Given the description of an element on the screen output the (x, y) to click on. 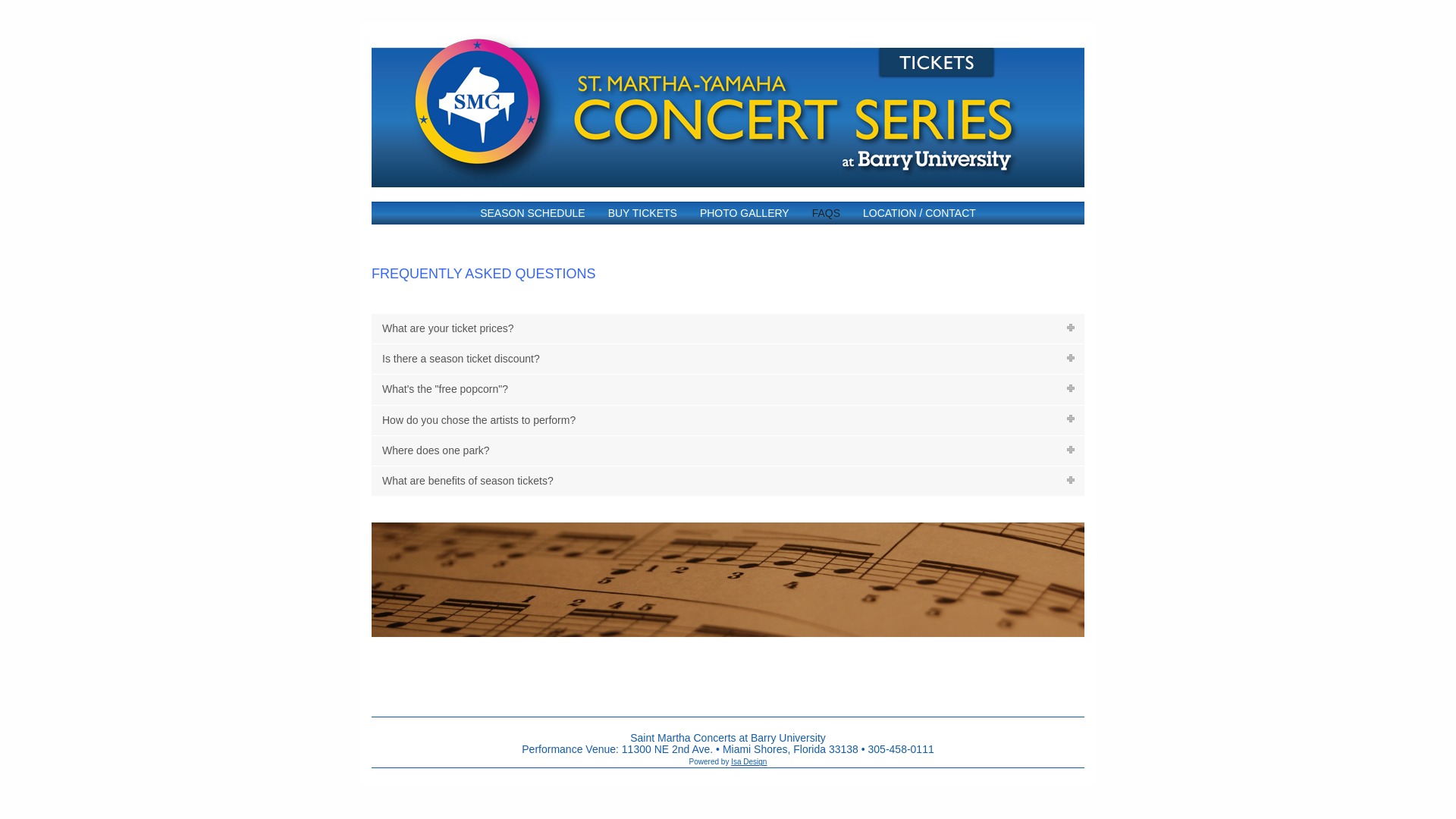
PHOTO GALLERY (744, 212)
How do you chose the artists to perform? (727, 419)
BUY TICKETS (642, 212)
FAQS (825, 212)
SEASON SCHEDULE (531, 212)
Is there a season ticket discount? (727, 358)
What's the "free popcorn"? (727, 389)
Where does one park? (727, 450)
What are your ticket prices? (727, 328)
What are benefits of season tickets? (727, 481)
